Given the description of an element on the screen output the (x, y) to click on. 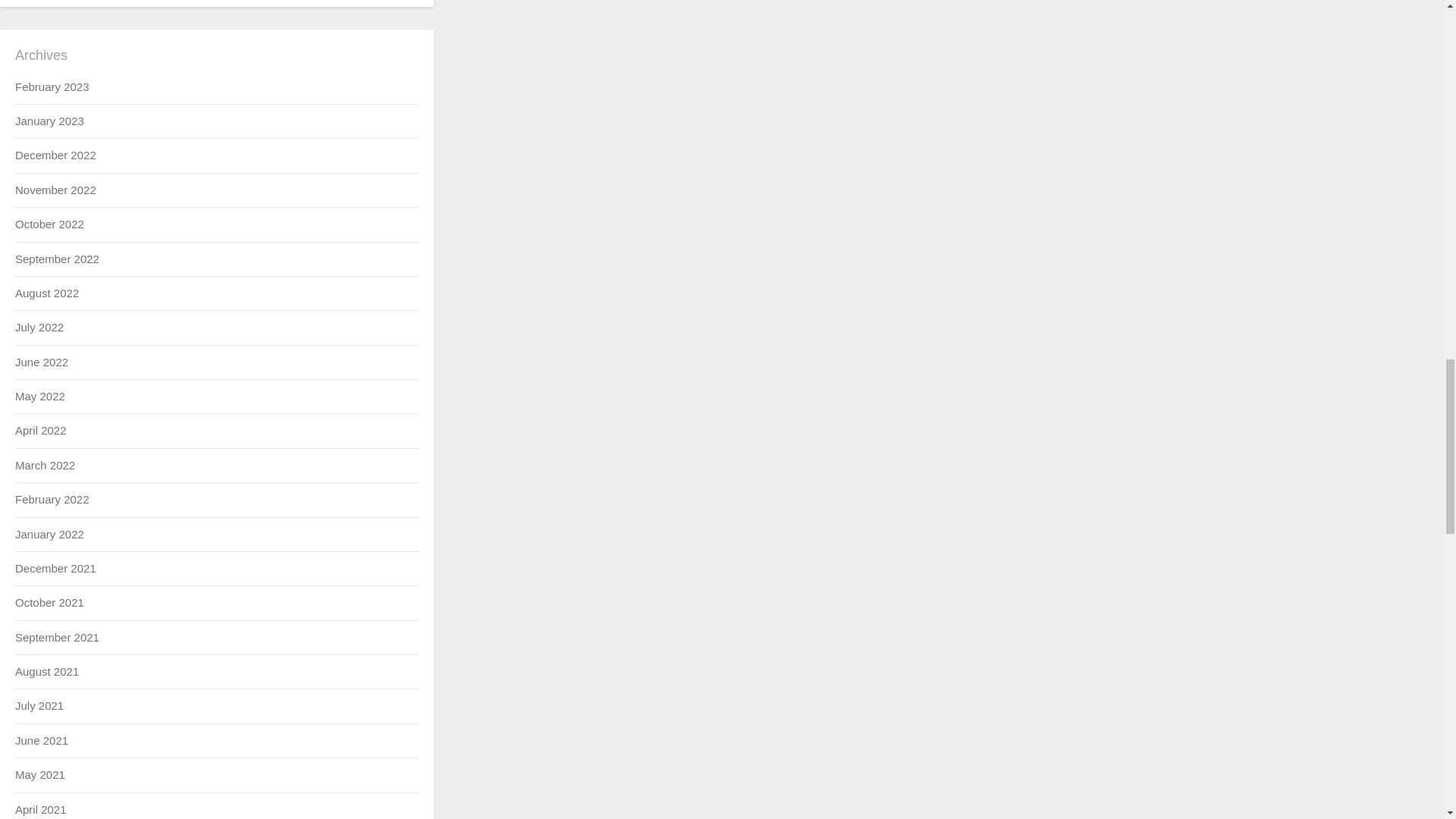
April 2021 (40, 809)
January 2023 (49, 120)
October 2021 (49, 602)
August 2021 (46, 671)
February 2023 (51, 86)
December 2021 (55, 567)
March 2022 (44, 464)
November 2022 (55, 189)
September 2022 (56, 258)
July 2021 (39, 705)
December 2022 (55, 154)
May 2022 (39, 395)
February 2022 (51, 499)
August 2022 (46, 292)
May 2021 (39, 774)
